Given the description of an element on the screen output the (x, y) to click on. 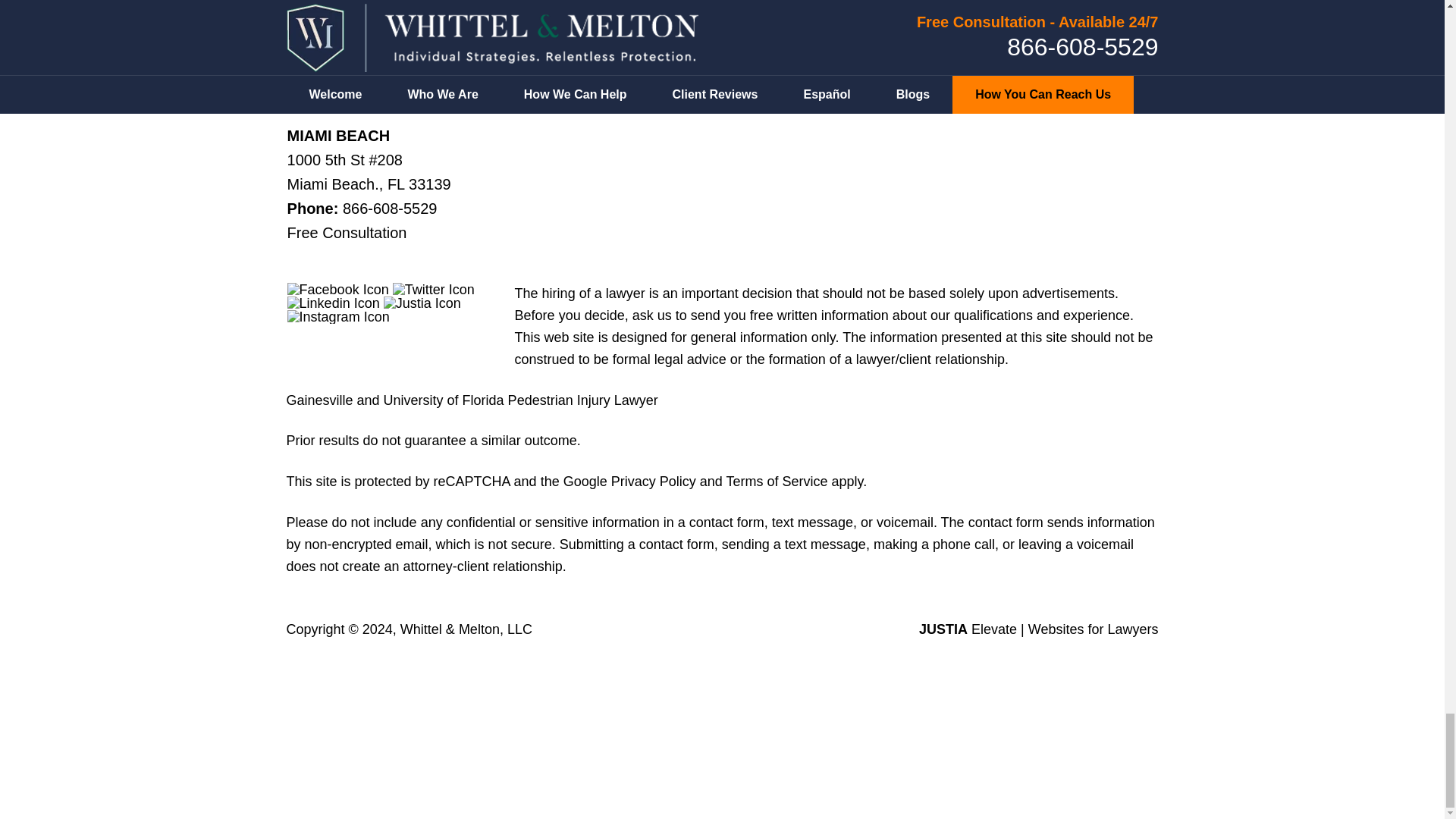
Instagram (338, 316)
Justia (422, 303)
Twitter (433, 289)
Linkedin (333, 303)
Facebook (337, 289)
